Given the description of an element on the screen output the (x, y) to click on. 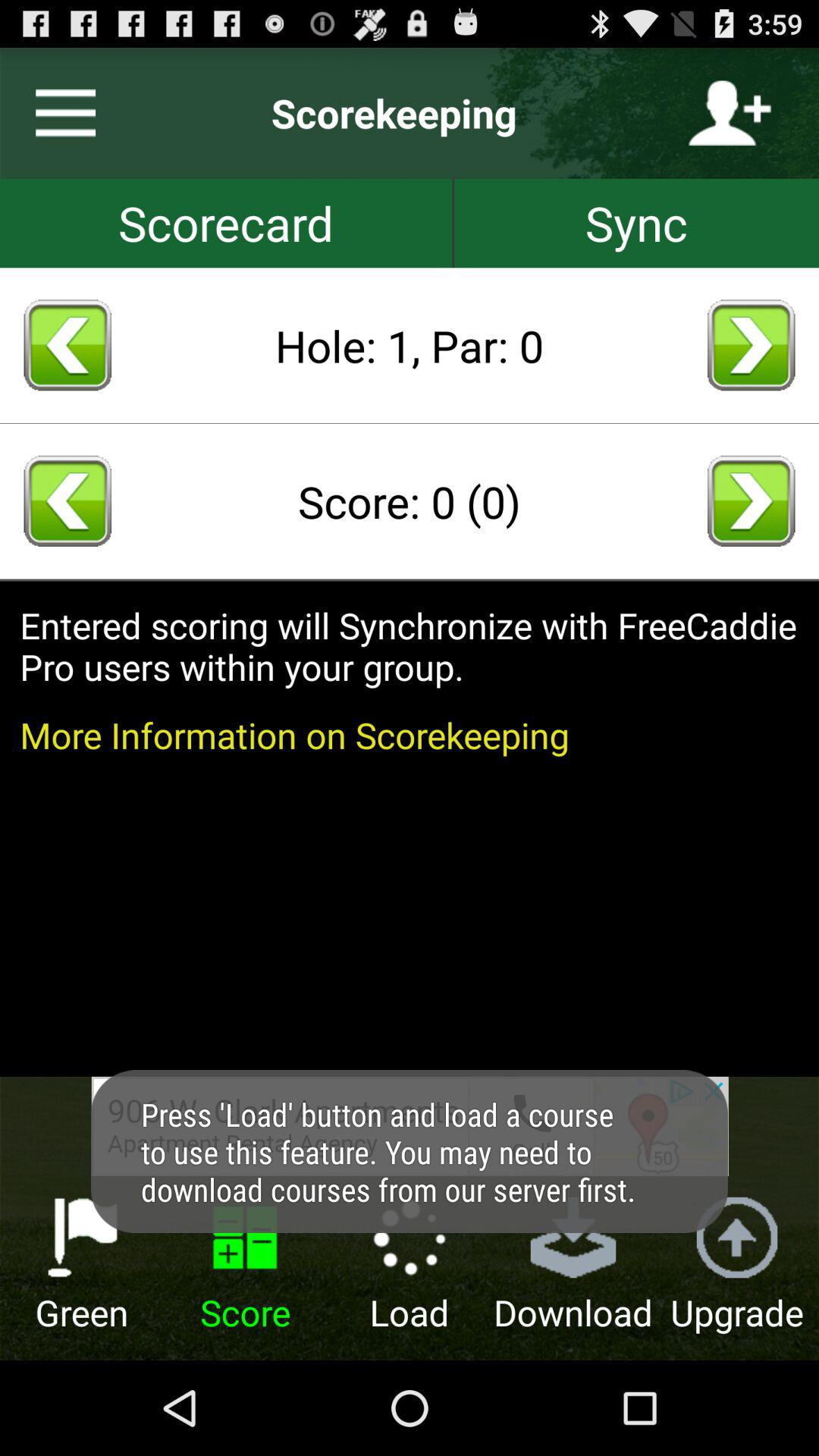
add contacts (729, 112)
